Given the description of an element on the screen output the (x, y) to click on. 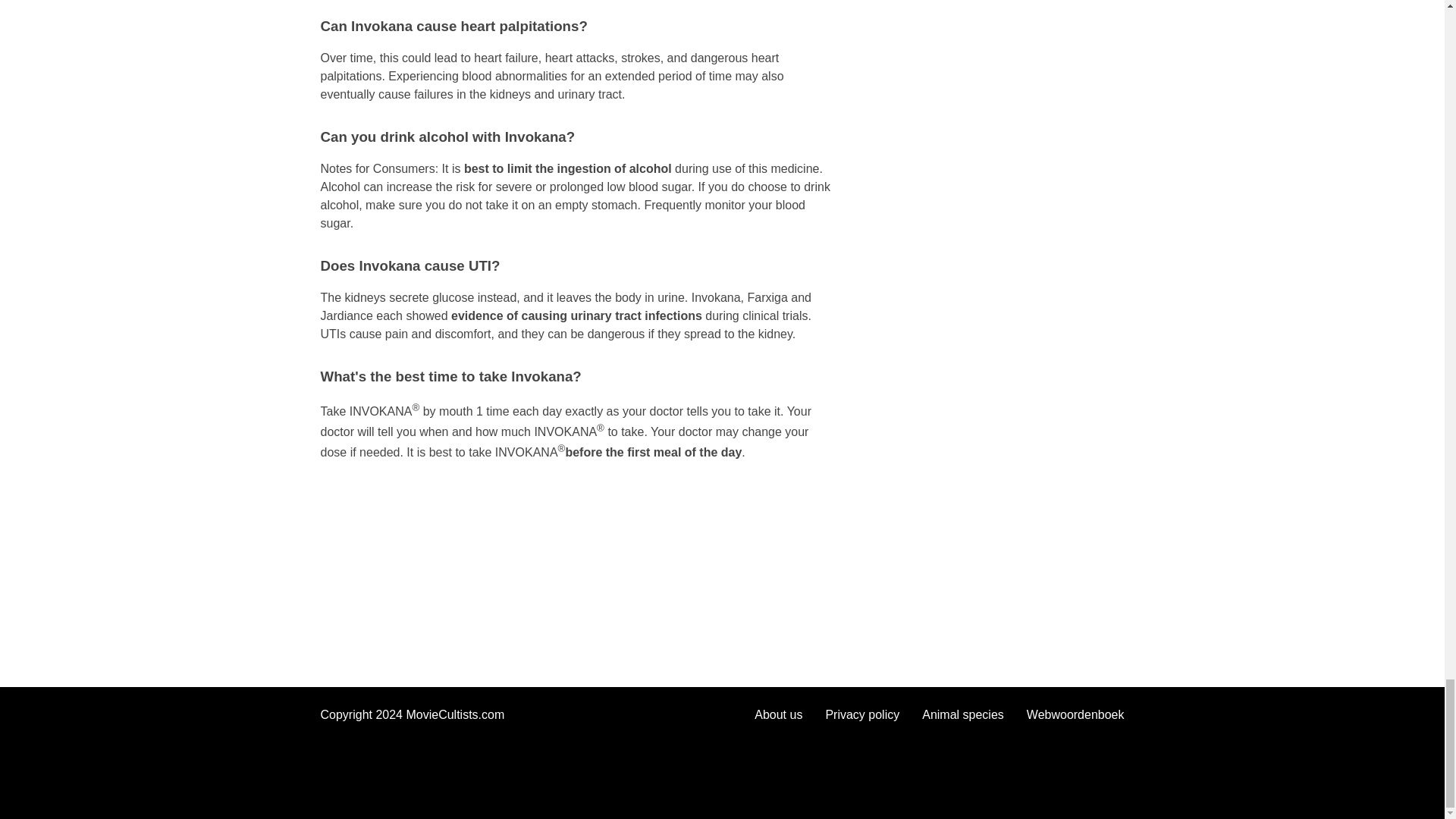
About us (778, 714)
Animal species (962, 714)
Privacy policy (862, 714)
Webwoordenboek (1075, 714)
